Given the description of an element on the screen output the (x, y) to click on. 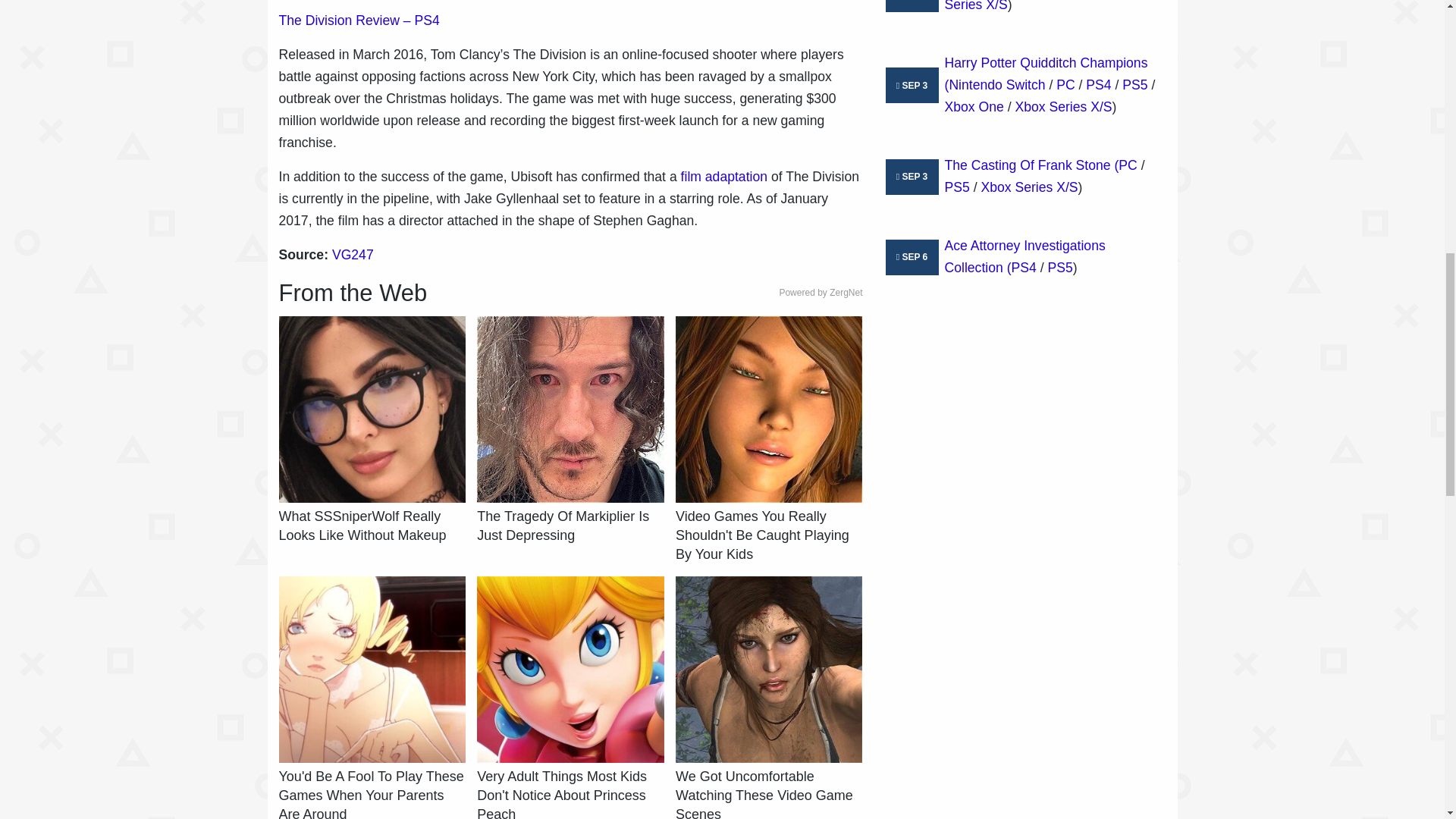
Powered by ZergNet (819, 292)
What SSSniperWolf Really Looks Like Without Makeup (372, 525)
film adaptation (724, 176)
VG247 (352, 254)
The Tragedy Of Markiplier Is Just Depressing (570, 525)
We Got Uncomfortable Watching These Video Game Scenes (768, 793)
